Given the description of an element on the screen output the (x, y) to click on. 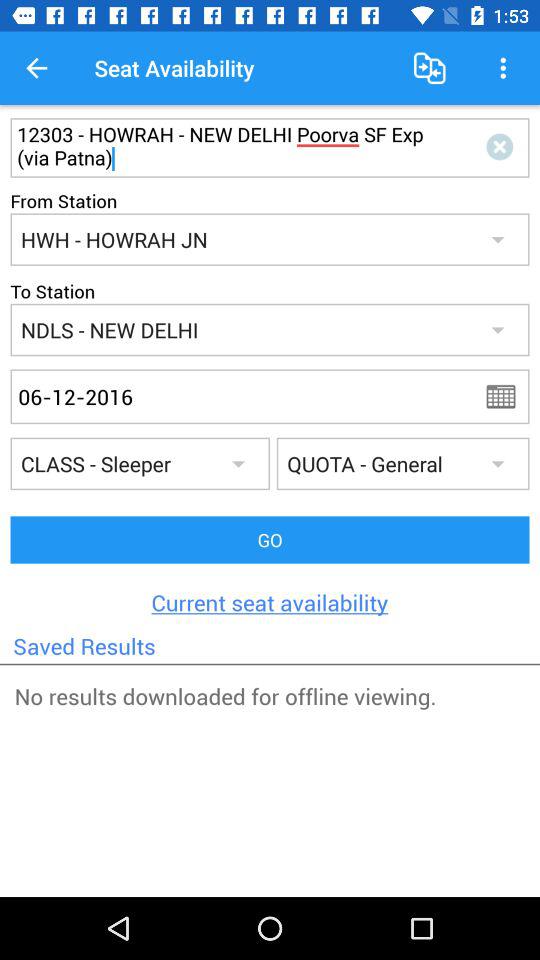
press the item above the from station icon (233, 147)
